Given the description of an element on the screen output the (x, y) to click on. 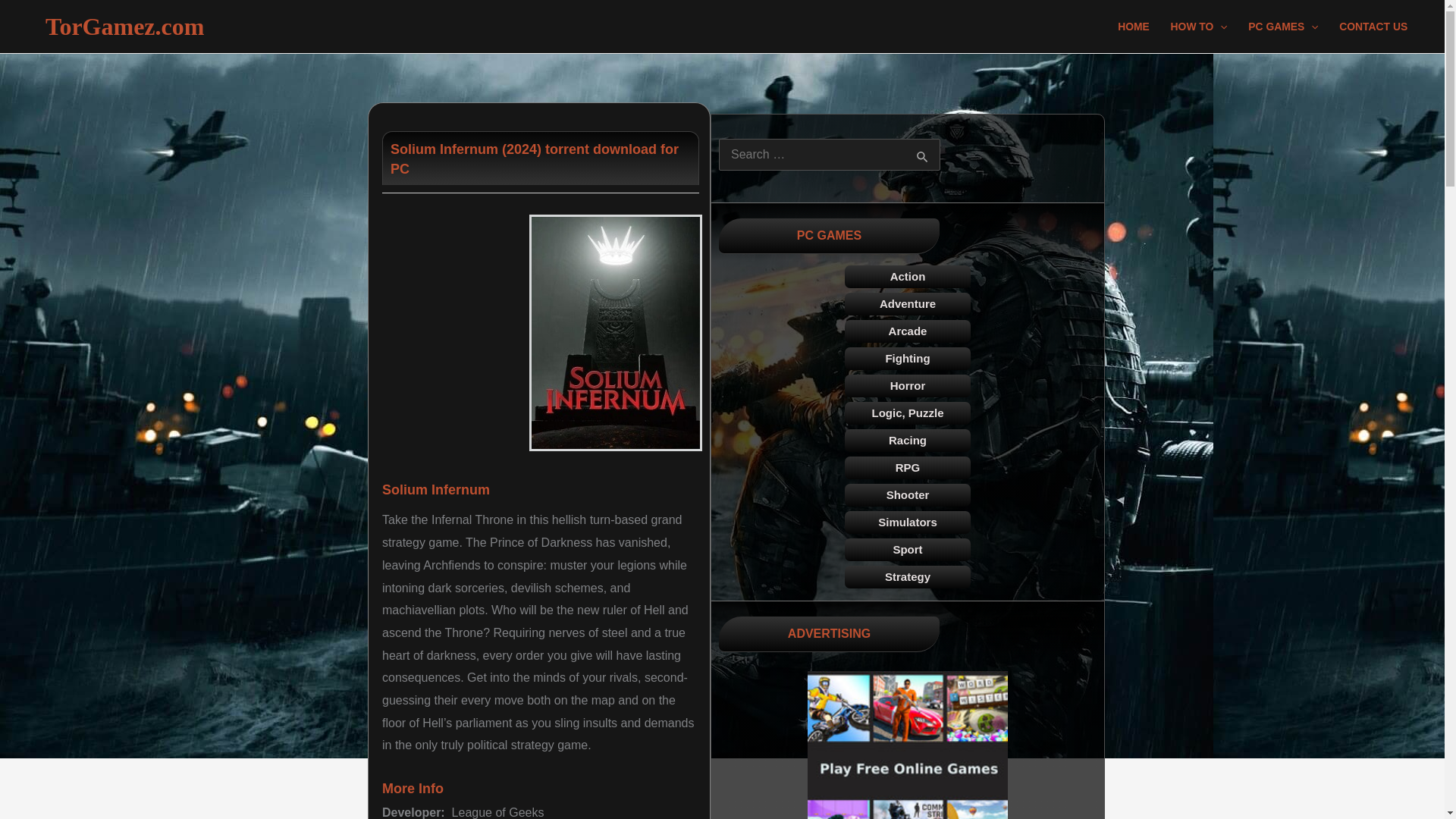
PC GAMES (1282, 26)
TorGamez.com (118, 25)
HOME (1132, 26)
CONTACT US (1372, 26)
HOW TO (1199, 26)
